Given the description of an element on the screen output the (x, y) to click on. 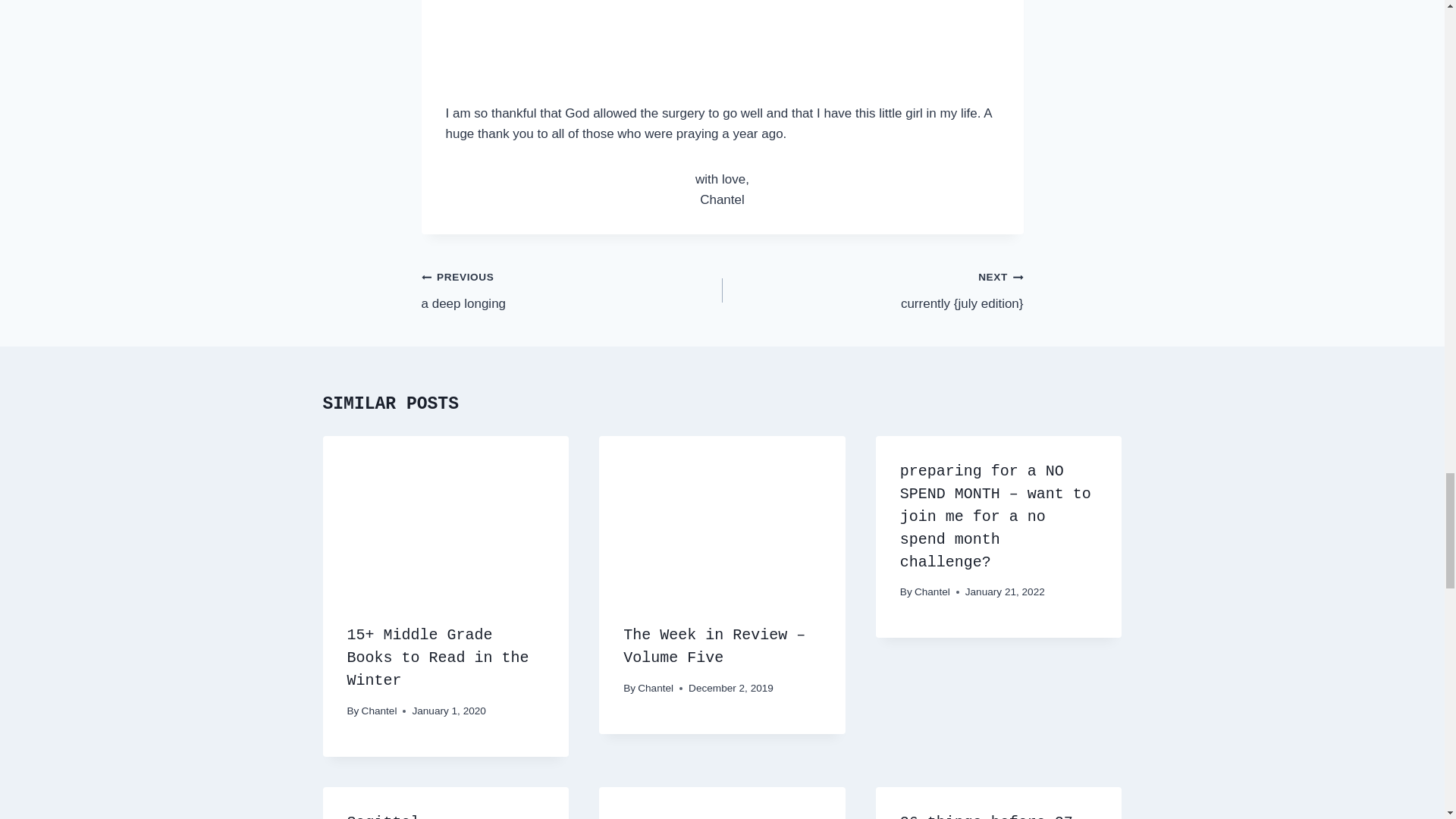
Chantel (932, 591)
Chantel (379, 710)
Sagittal Craniosynostosis (572, 289)
Chantel (420, 816)
